Given the description of an element on the screen output the (x, y) to click on. 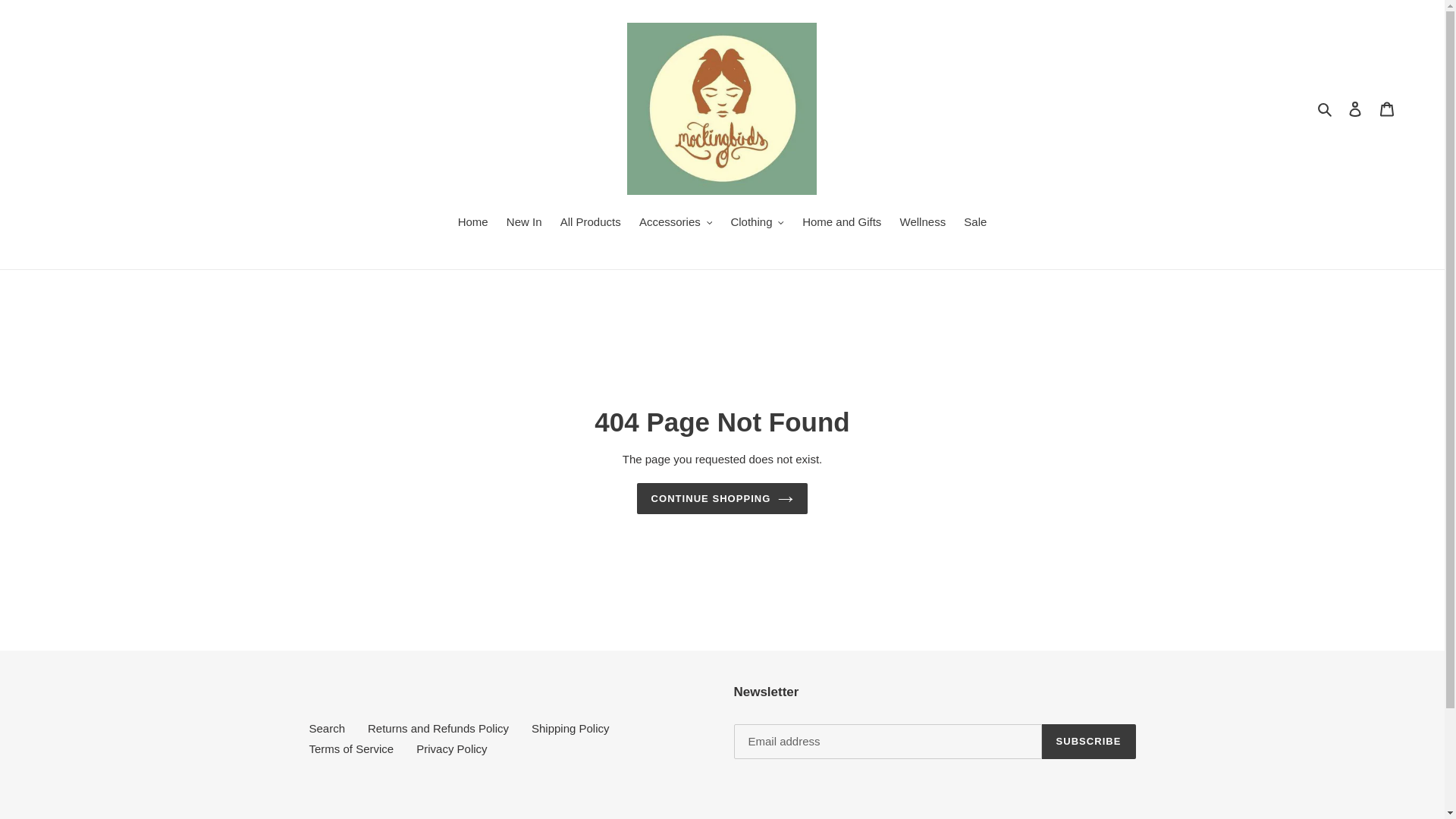
Cart (1387, 108)
Search (1326, 108)
Log in (1355, 108)
